Given the description of an element on the screen output the (x, y) to click on. 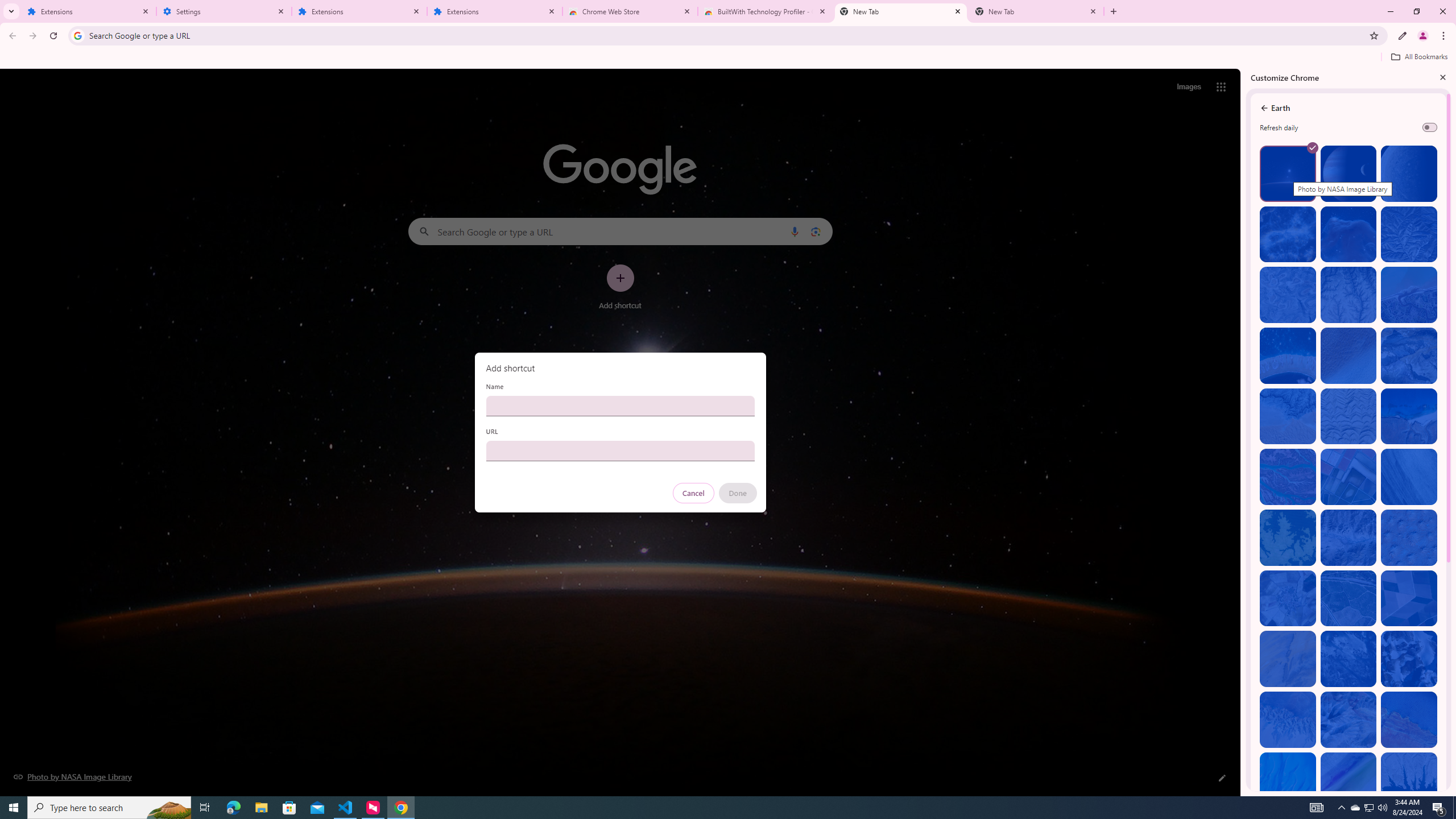
Utrera, Spain (1408, 598)
Kelan, Shanxi, China (1408, 233)
Nanggroe Aceh Darussalam, Indonesia (1408, 294)
URL (620, 450)
New Tab (1036, 11)
Side Panel Resize Handle (1242, 431)
Libya (1408, 719)
Ouargla, Algeria (1408, 537)
Rikaze, China (1348, 537)
Qesm Al Wahat Ad Dakhlah, Egypt (1287, 719)
